Given the description of an element on the screen output the (x, y) to click on. 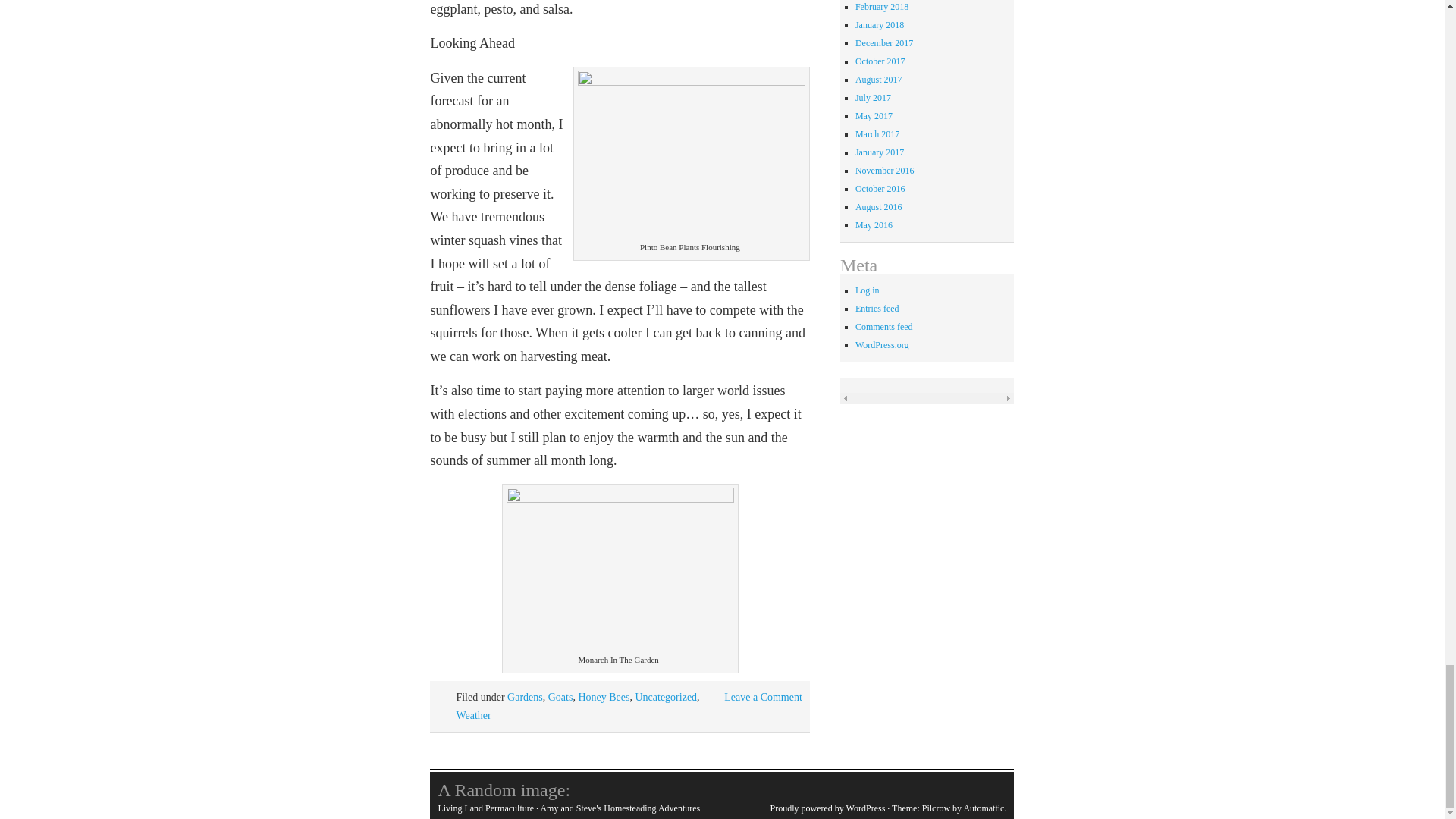
A Semantic Personal Publishing Platform (827, 808)
Leave a Comment (762, 696)
Goats (560, 696)
Honey Bees (603, 696)
Uncategorized (665, 696)
Gardens (524, 696)
Living Land Permaculture (486, 808)
Weather (472, 715)
